Given the description of an element on the screen output the (x, y) to click on. 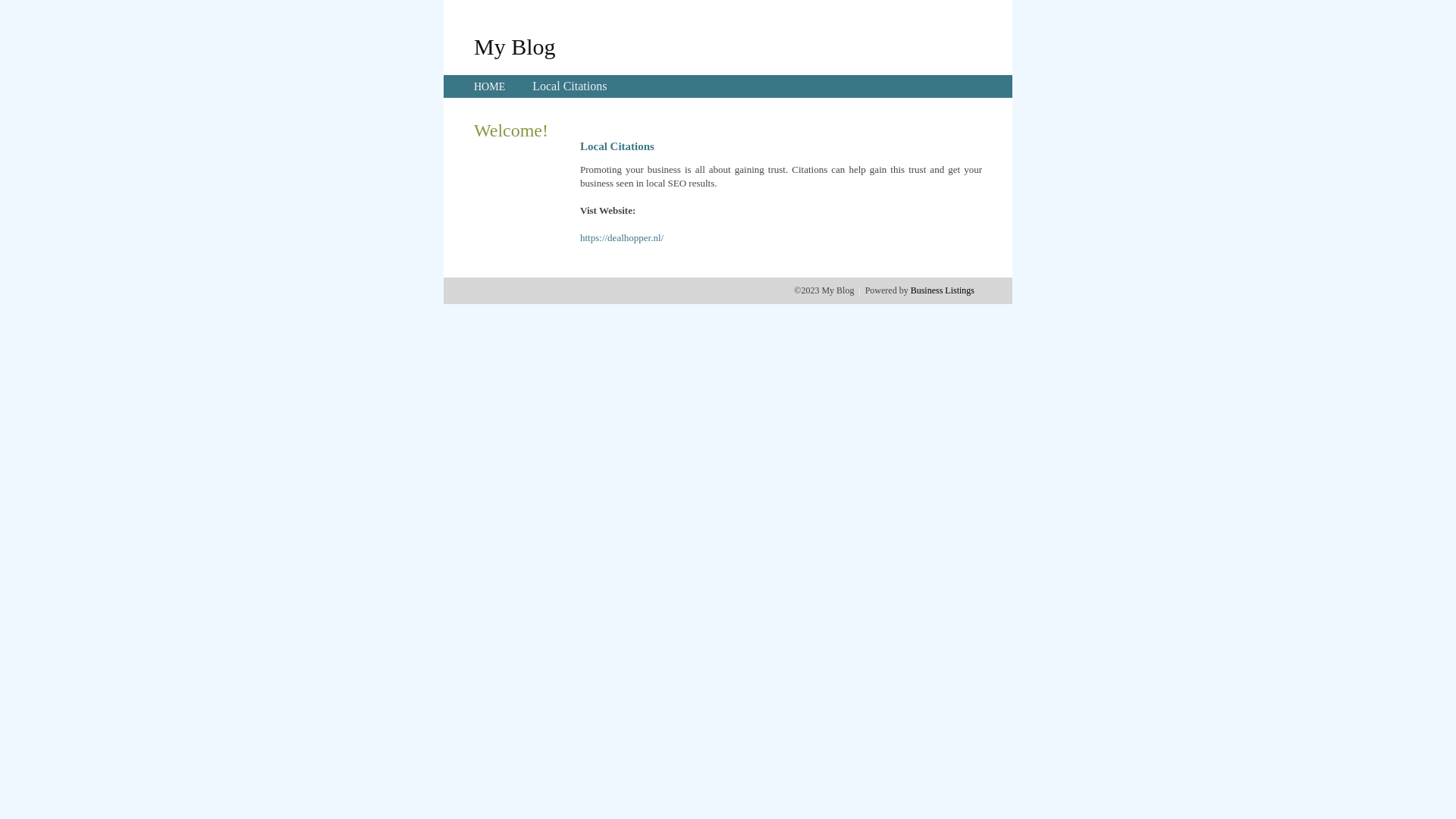
Business Listings Element type: text (942, 290)
HOME Element type: text (489, 86)
My Blog Element type: text (514, 46)
https://dealhopper.nl/ Element type: text (621, 237)
Local Citations Element type: text (569, 85)
